Given the description of an element on the screen output the (x, y) to click on. 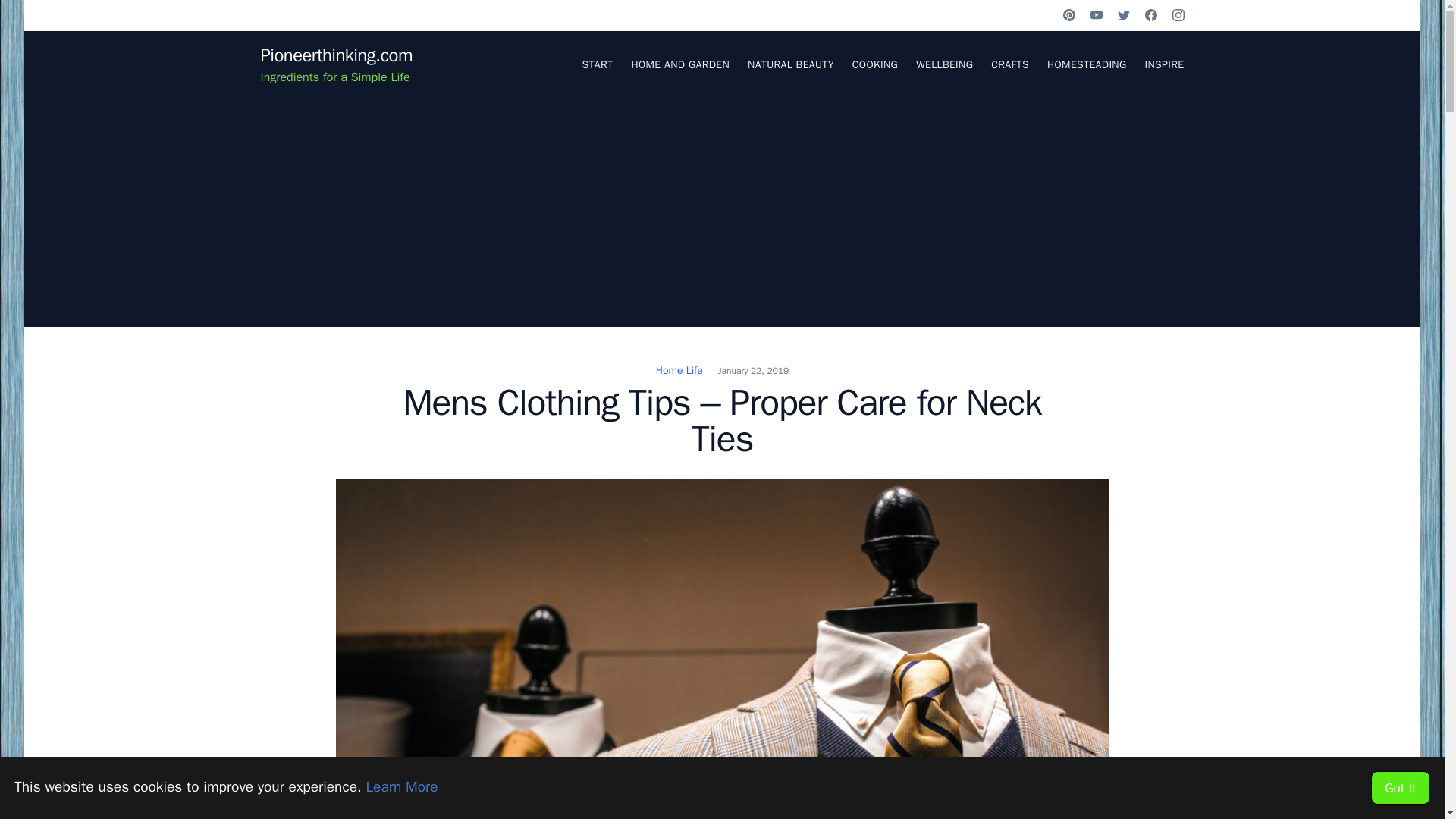
Learn More (401, 787)
NATURAL BEAUTY (791, 64)
HOME AND GARDEN (679, 64)
START (596, 64)
Got It (1400, 787)
Pioneerthinking.com (336, 55)
COOKING (874, 64)
Learn More (401, 787)
